Given the description of an element on the screen output the (x, y) to click on. 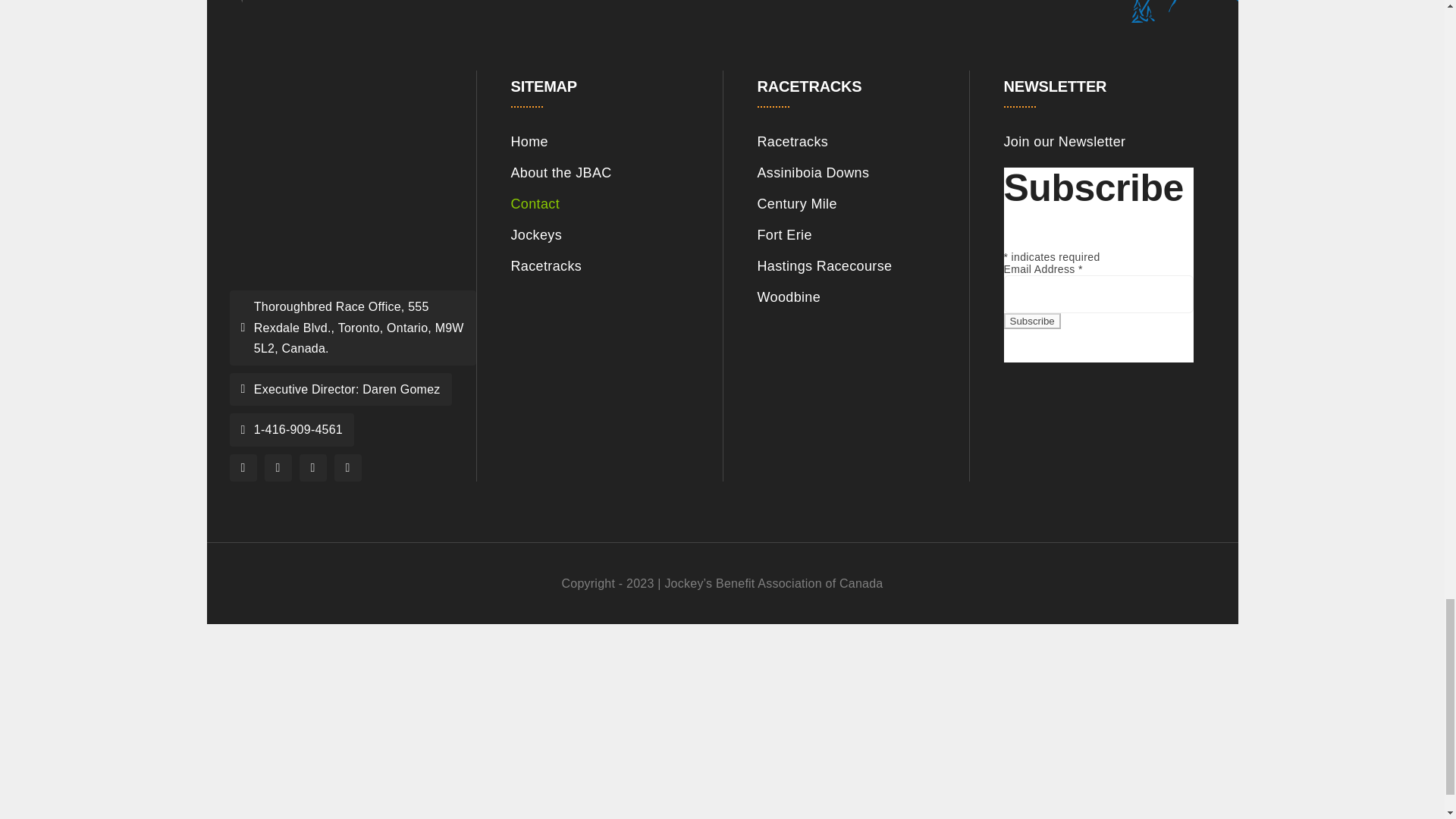
Subscribe (1032, 320)
